Given the description of an element on the screen output the (x, y) to click on. 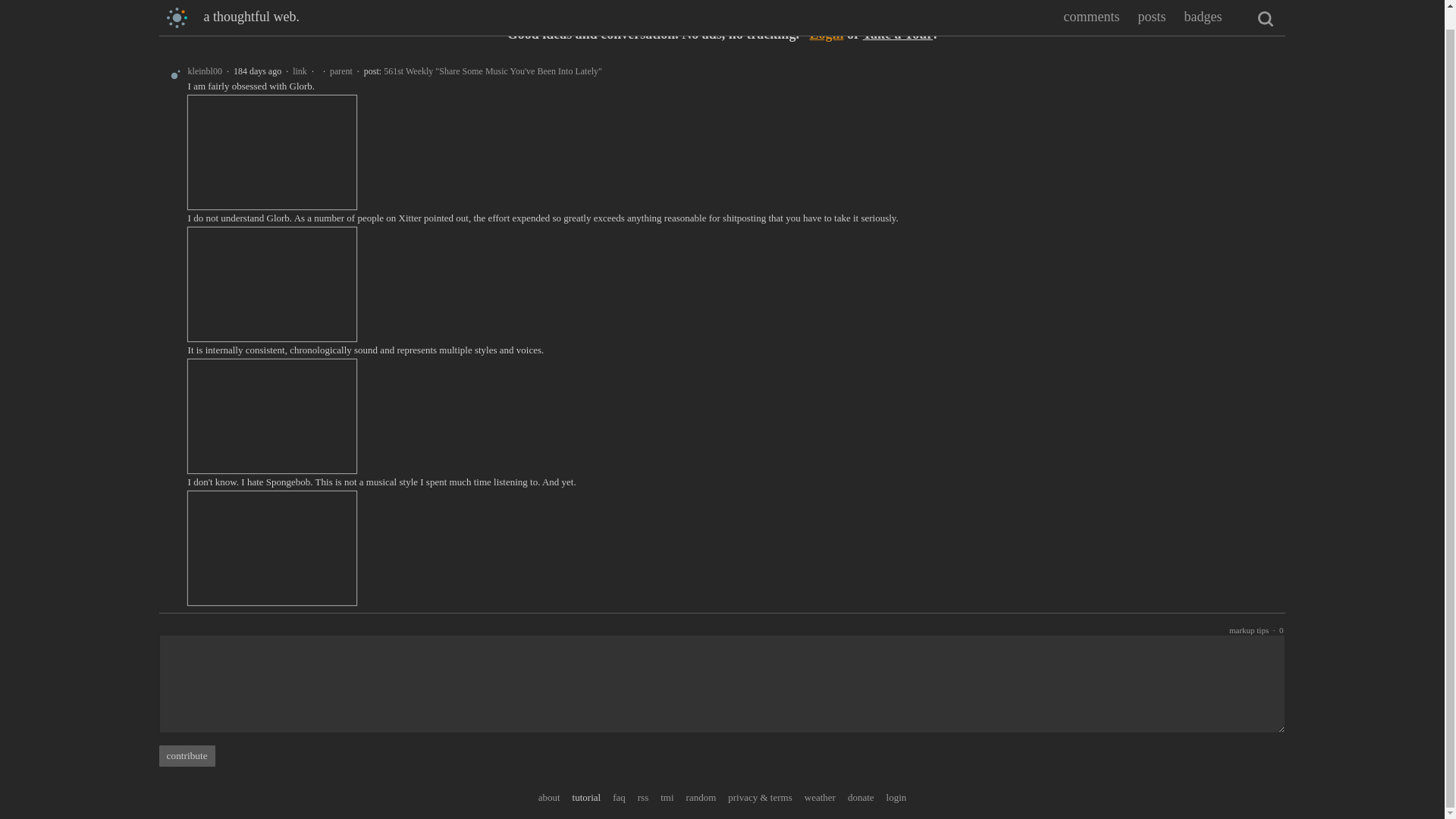
Login (826, 33)
kleinbl00 (204, 71)
badges (1202, 2)
rss (642, 796)
561st Weekly "Share Some Music You've Been Into Lately" (493, 71)
searchbox (1264, 3)
Take a Tour (898, 33)
random (700, 796)
tmi (666, 796)
posts (1151, 2)
contribute (186, 755)
about (549, 796)
parent (341, 71)
donate (861, 796)
weather (820, 796)
